Given the description of an element on the screen output the (x, y) to click on. 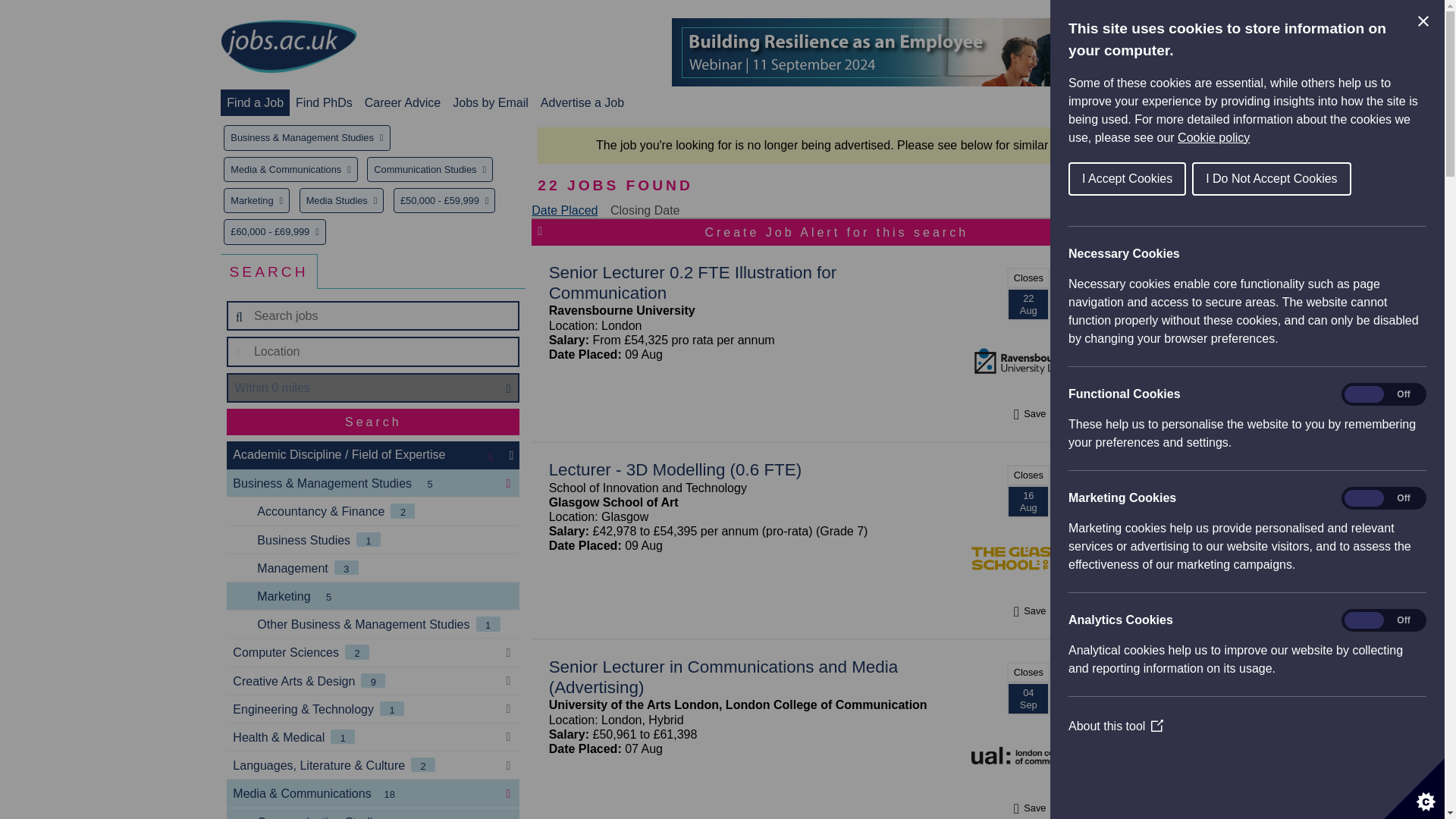
Jobs by Email (490, 102)
Your Account (1106, 102)
Find PhDs (323, 102)
I Accept Cookies (1325, 178)
Create Job Alert for this search (836, 232)
Building Resilience as an Employee (947, 52)
Search (373, 421)
distance (373, 387)
Save job (1027, 610)
Recruiters (1189, 102)
